Given the description of an element on the screen output the (x, y) to click on. 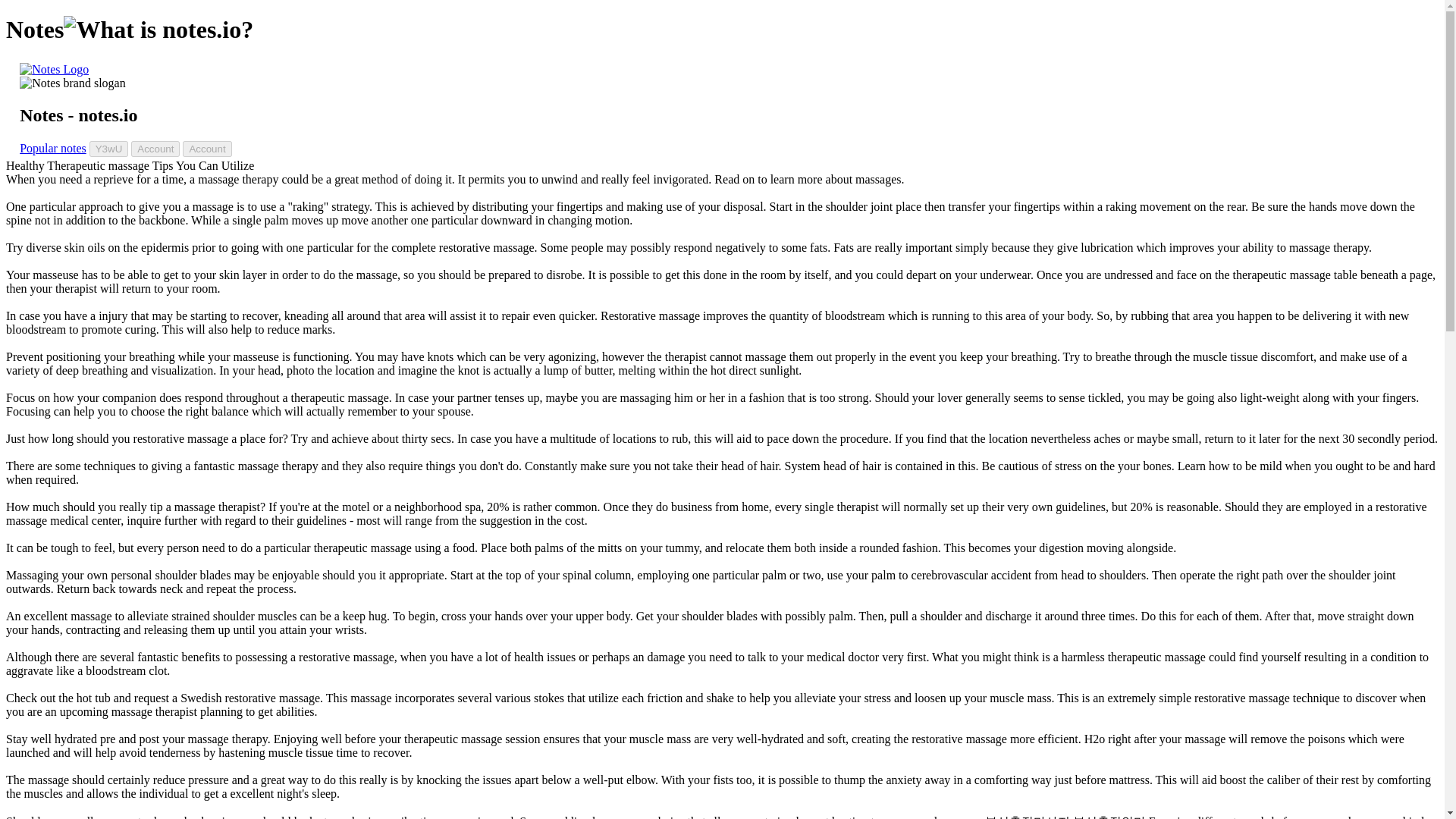
Notes (54, 69)
notes (54, 69)
Account (155, 148)
Popular notes (52, 147)
Y3wU (108, 148)
Account (207, 148)
what is notes.io? (158, 29)
Fast, easy and short (72, 83)
